Given the description of an element on the screen output the (x, y) to click on. 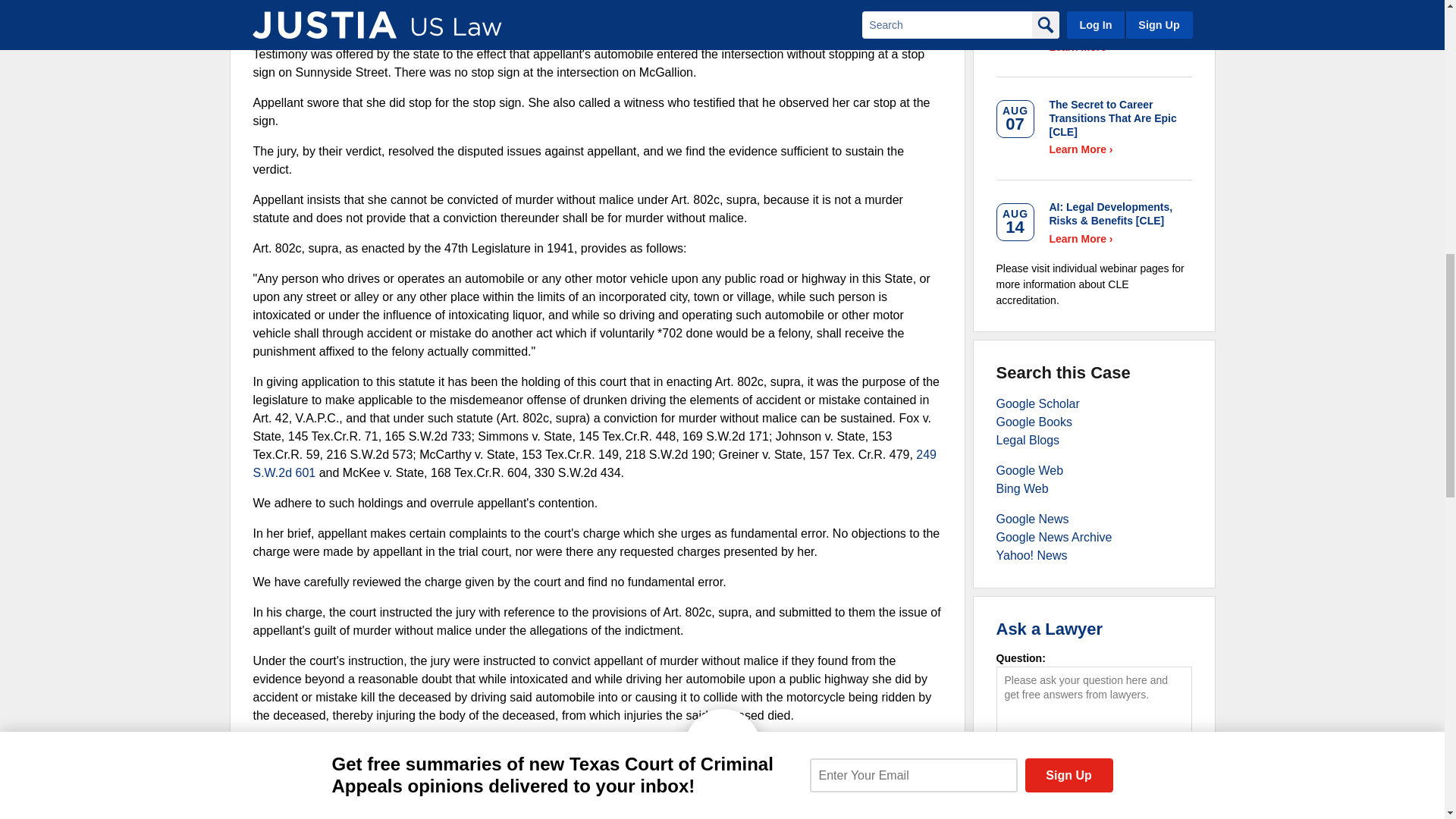
Law - Bing Web (1021, 488)
Law - Google Web (1029, 470)
Law - Legal Blogs (1027, 440)
Law - Google News Archive (1053, 536)
Law - Google Books (1034, 421)
Law - Google News (1031, 518)
Law - Yahoo! News (1031, 554)
Law - Google Scholar (1037, 403)
249 S.W.2d 601 (595, 463)
